Given the description of an element on the screen output the (x, y) to click on. 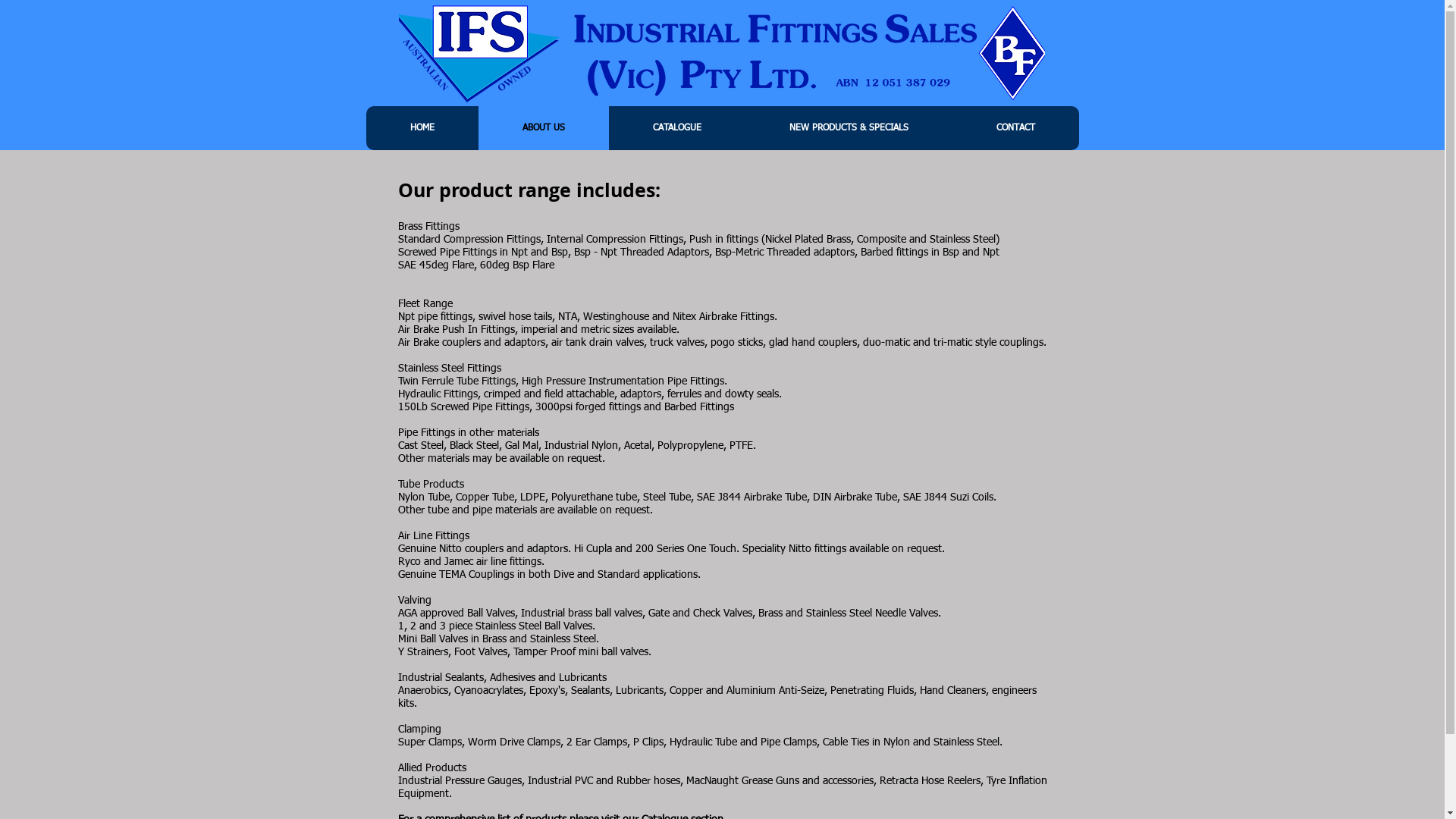
HOME Element type: text (421, 128)
CATALOGUE Element type: text (676, 128)
CONTACT Element type: text (1015, 128)
NEW PRODUCTS & SPECIALS Element type: text (847, 128)
ABOUT US Element type: text (542, 128)
